Given the description of an element on the screen output the (x, y) to click on. 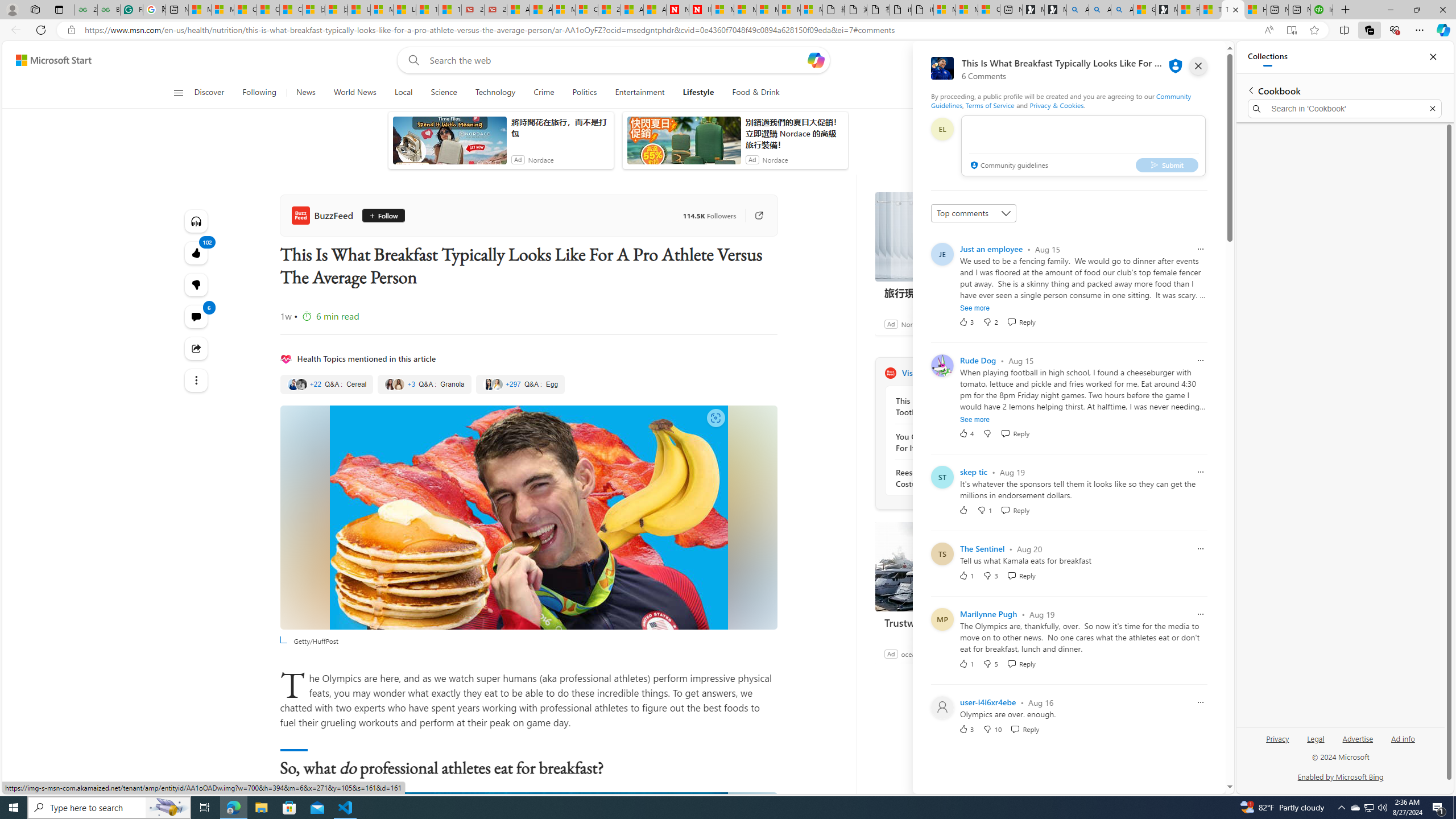
3 Like (965, 729)
102 Like (196, 252)
Go to publisher's site (752, 215)
Class: quote-thumbnail (496, 384)
comment-box (1082, 145)
